Given the description of an element on the screen output the (x, y) to click on. 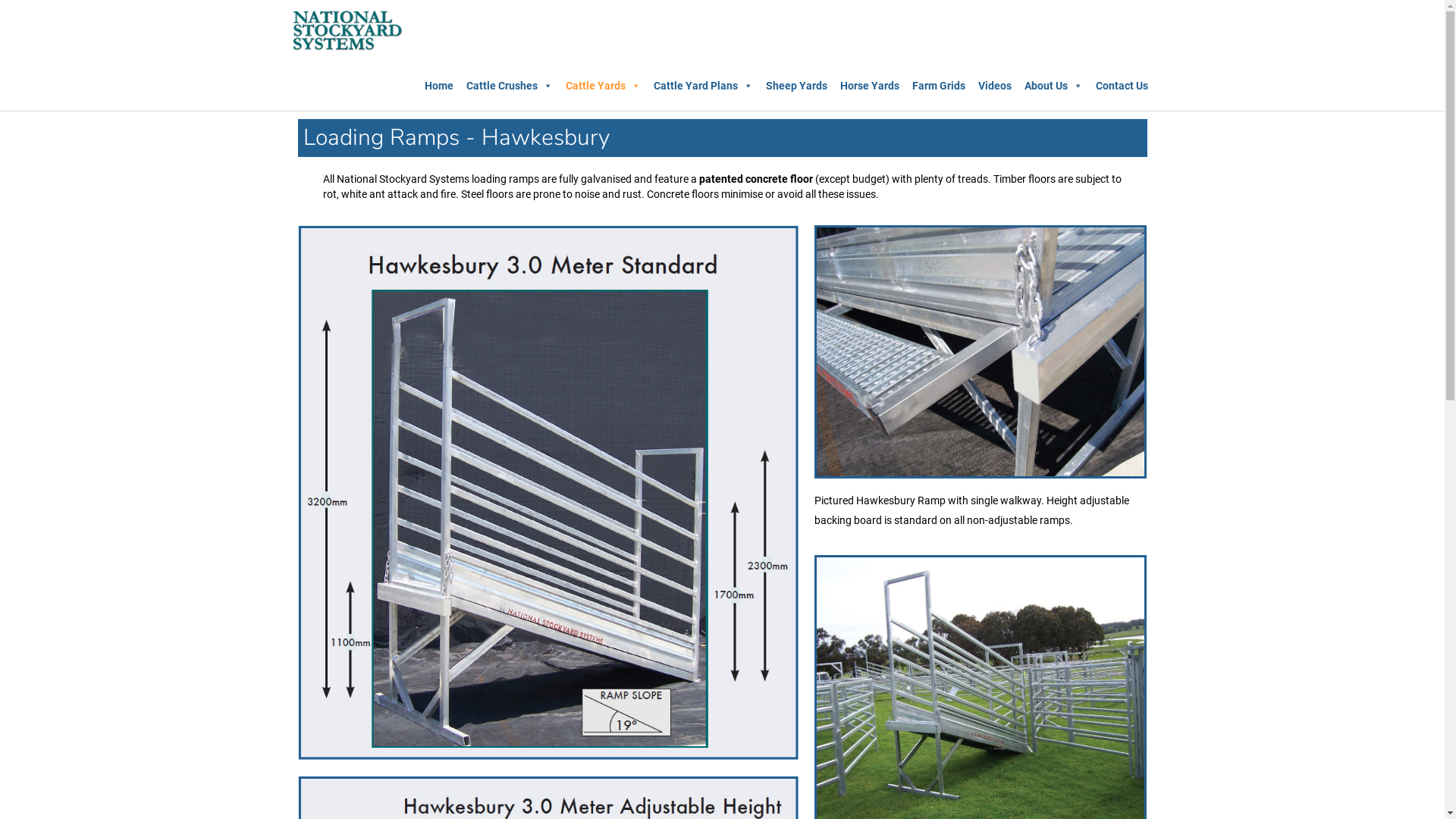
Contact Us Element type: text (1120, 86)
Cattle Yard Plans Element type: text (703, 86)
About Us Element type: text (1052, 86)
Farm Grids Element type: text (937, 86)
Cattle Yards Element type: text (602, 86)
Videos Element type: text (994, 86)
Cattle Crushes Element type: text (508, 86)
Home Element type: text (438, 86)
Sheep Yards Element type: text (796, 86)
Horse Yards Element type: text (869, 86)
